Given the description of an element on the screen output the (x, y) to click on. 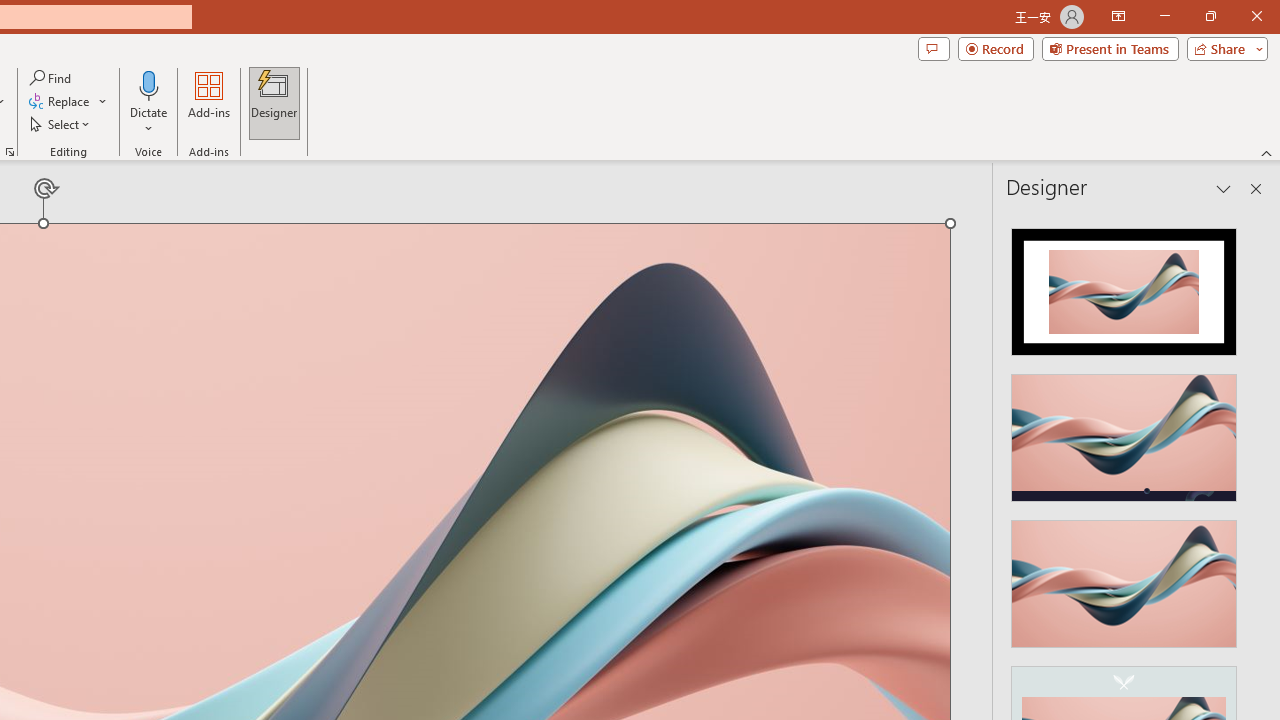
Design Idea (1124, 577)
